Given the description of an element on the screen output the (x, y) to click on. 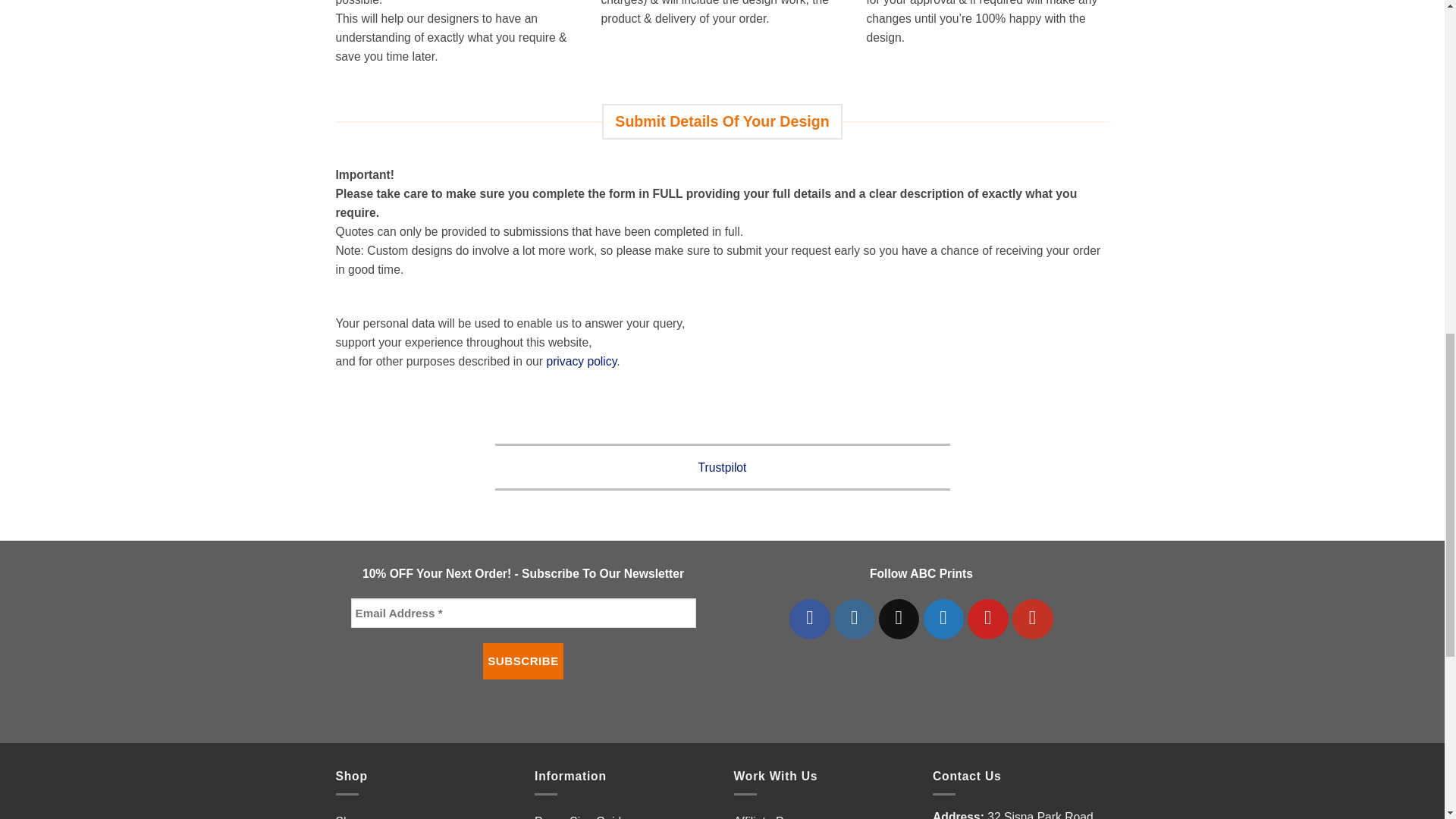
Follow on Twitter (943, 618)
Follow on Pinterest (988, 618)
Follow on TikTok (899, 618)
Subscribe (523, 661)
Follow on Instagram (854, 618)
Email Address (522, 612)
Follow on Facebook (809, 618)
